Given the description of an element on the screen output the (x, y) to click on. 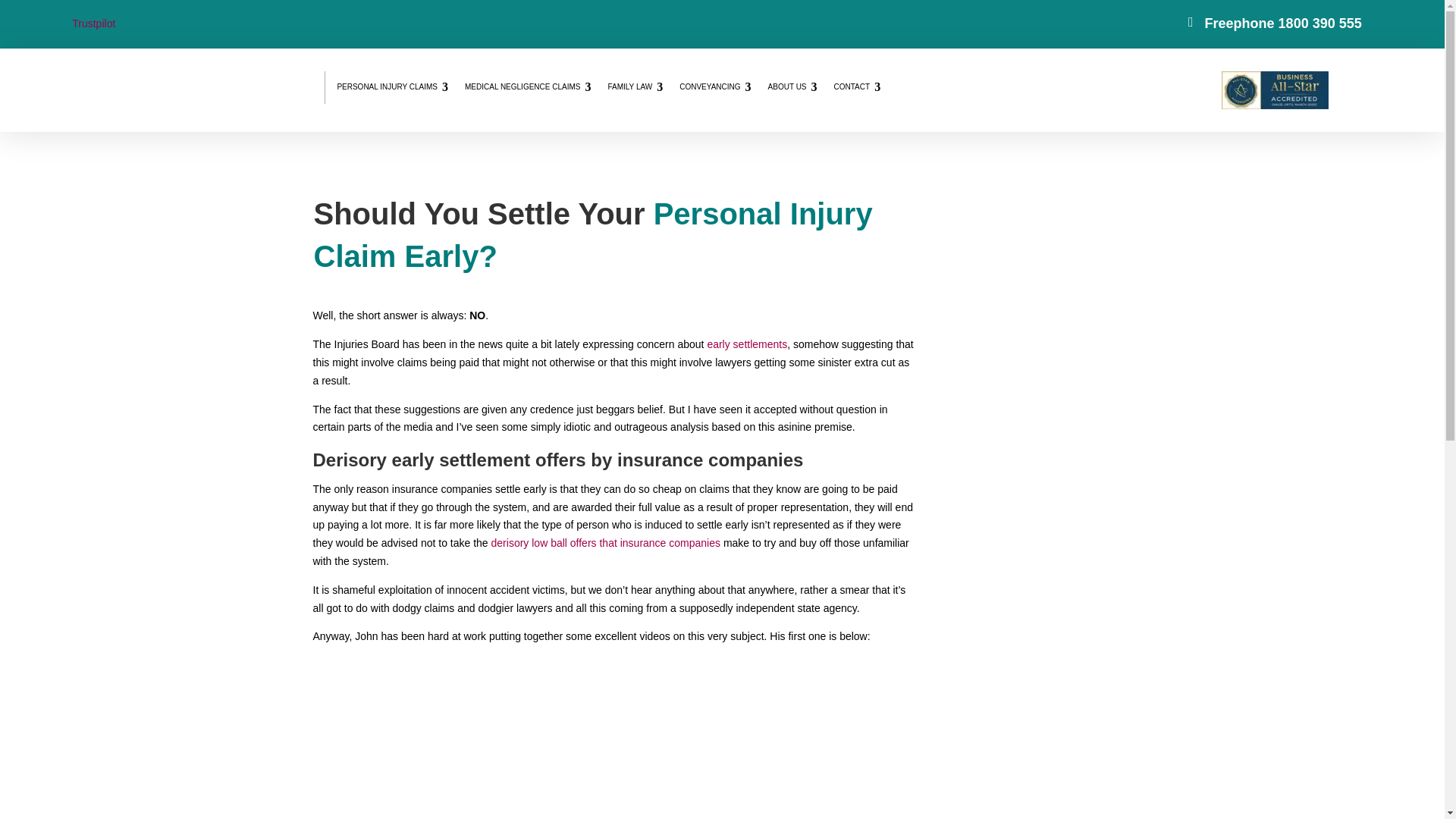
business-allstar (1274, 105)
PERSONAL INJURY CLAIMS (393, 86)
Freephone 1800 390 555 (1283, 23)
Trustpilot (93, 23)
